Given the description of an element on the screen output the (x, y) to click on. 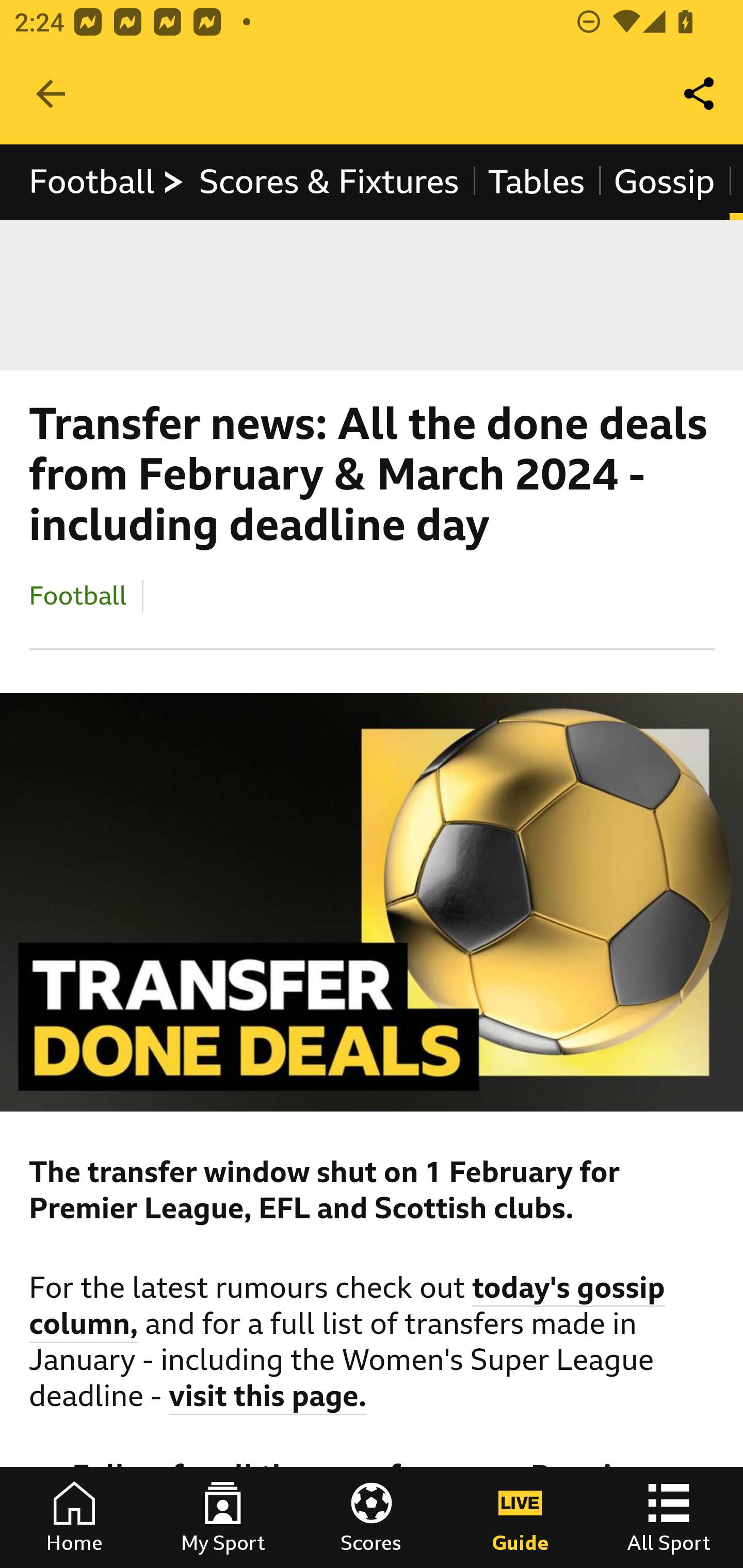
Navigate up (50, 93)
Share (699, 93)
Football  (106, 181)
Scores & Fixtures (329, 181)
Tables (536, 181)
Gossip (664, 181)
Football (77, 594)
today's gossip column, (347, 1307)
visit this page. (267, 1398)
Home (74, 1517)
My Sport (222, 1517)
Scores (371, 1517)
All Sport (668, 1517)
